Given the description of an element on the screen output the (x, y) to click on. 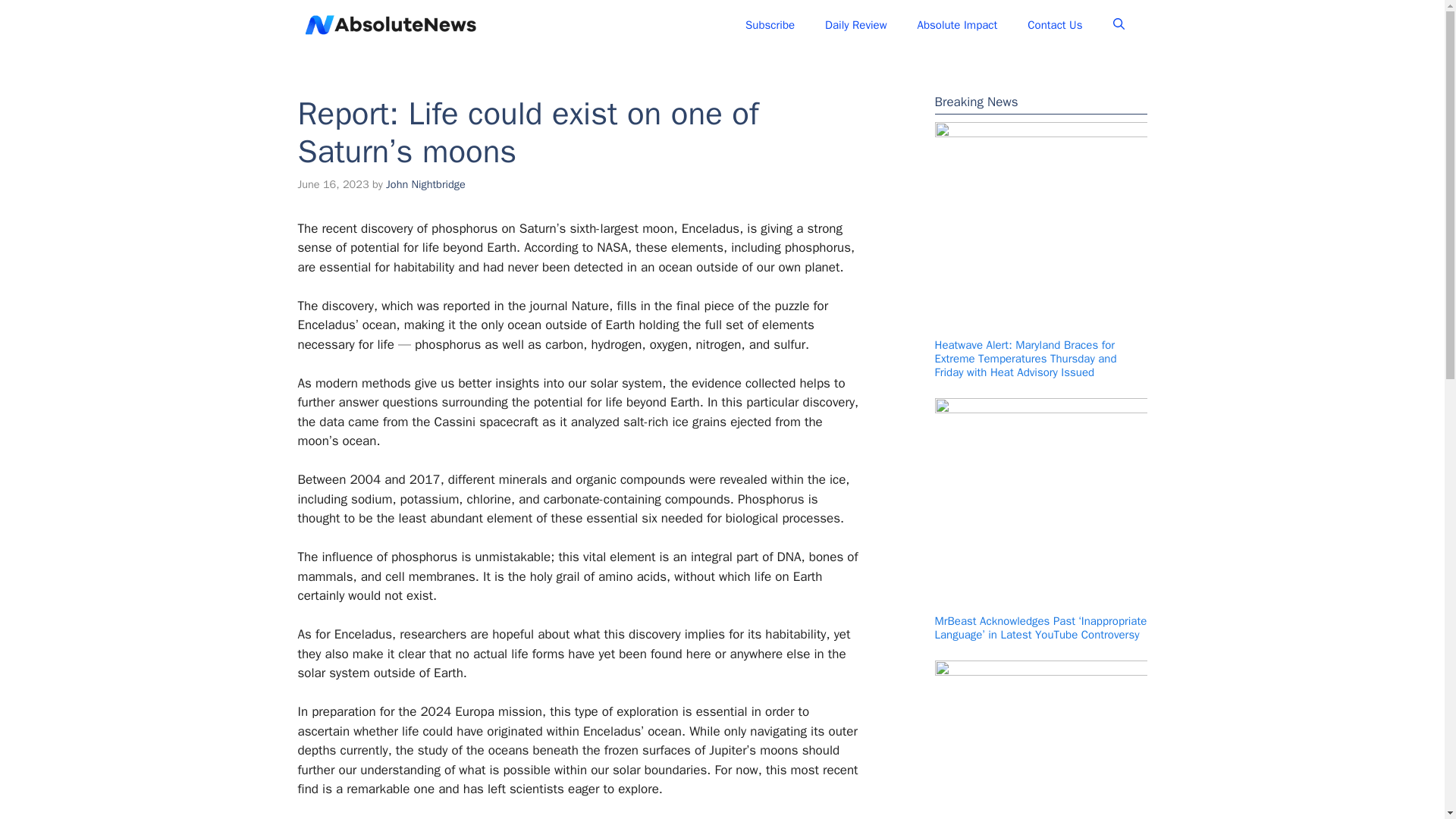
Absolute Impact (957, 23)
Absolute News (390, 24)
Contact Us (1054, 23)
Daily Review (855, 23)
Absolute News (545, 24)
John Nightbridge (425, 183)
Subscribe (769, 23)
View all posts by John Nightbridge (425, 183)
